Given the description of an element on the screen output the (x, y) to click on. 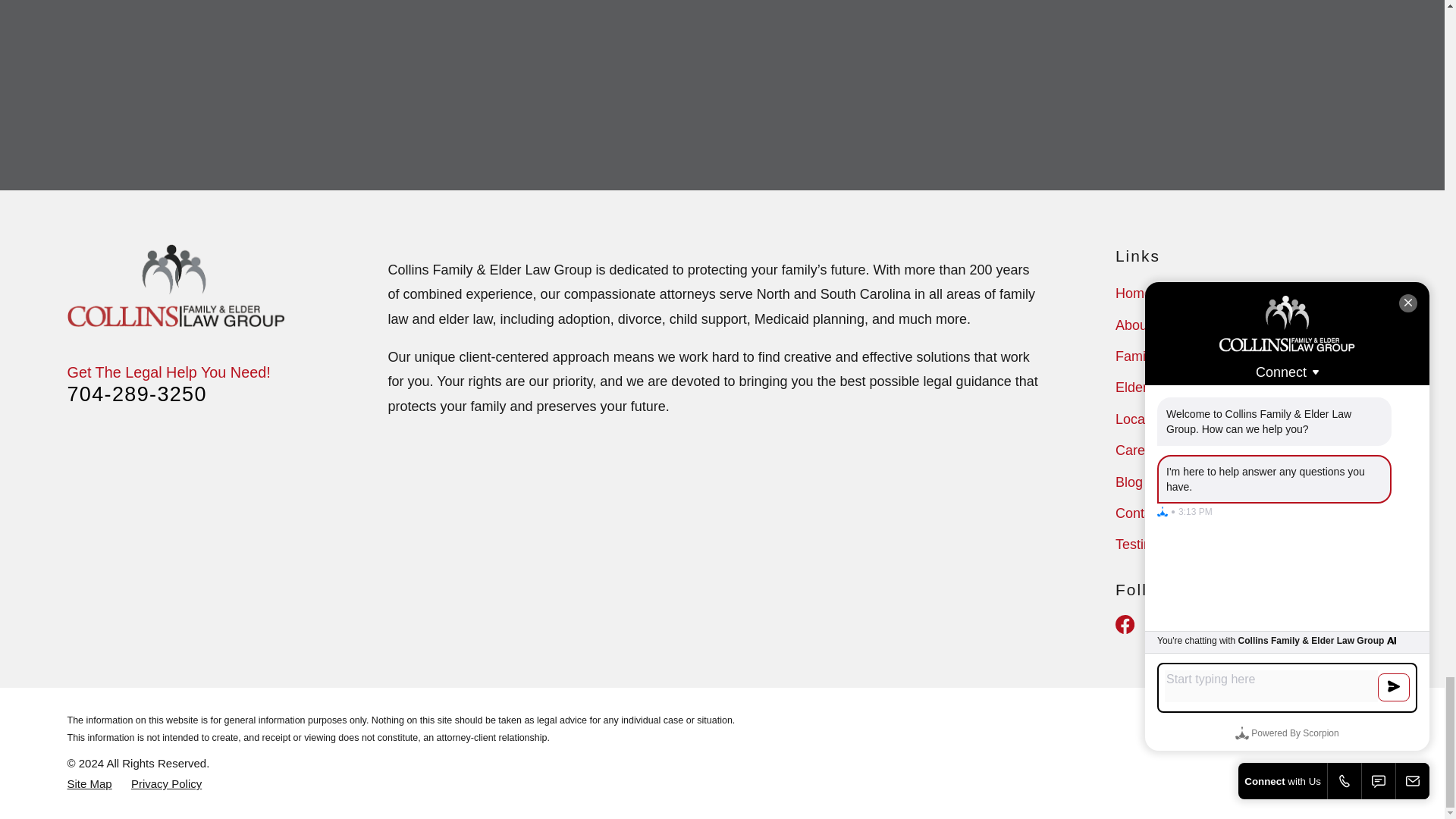
LinkedIn (1202, 624)
Facebook (1124, 624)
Home (175, 285)
Instagram (1163, 624)
